Given the description of an element on the screen output the (x, y) to click on. 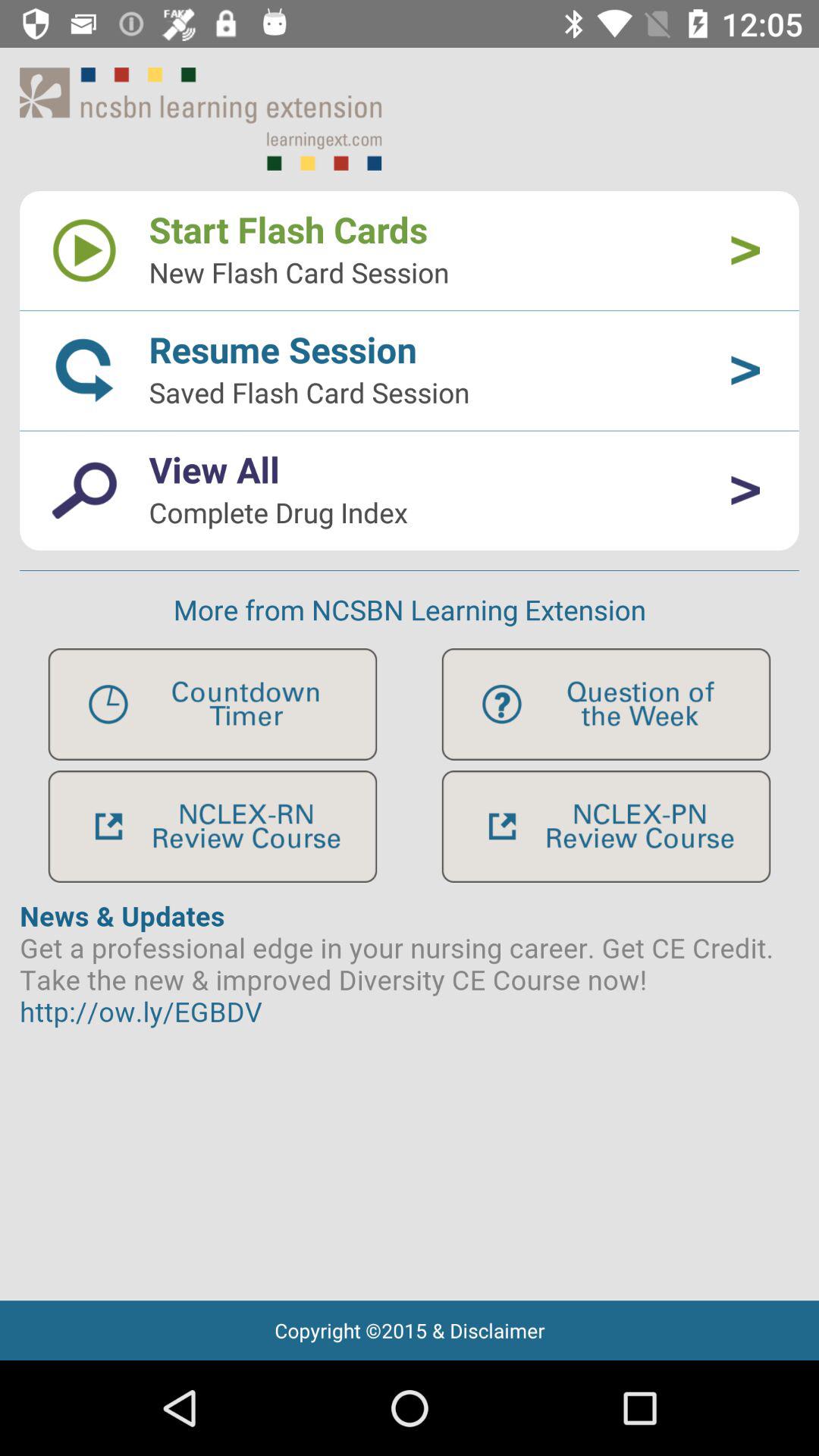
help feeback (606, 704)
